Given the description of an element on the screen output the (x, y) to click on. 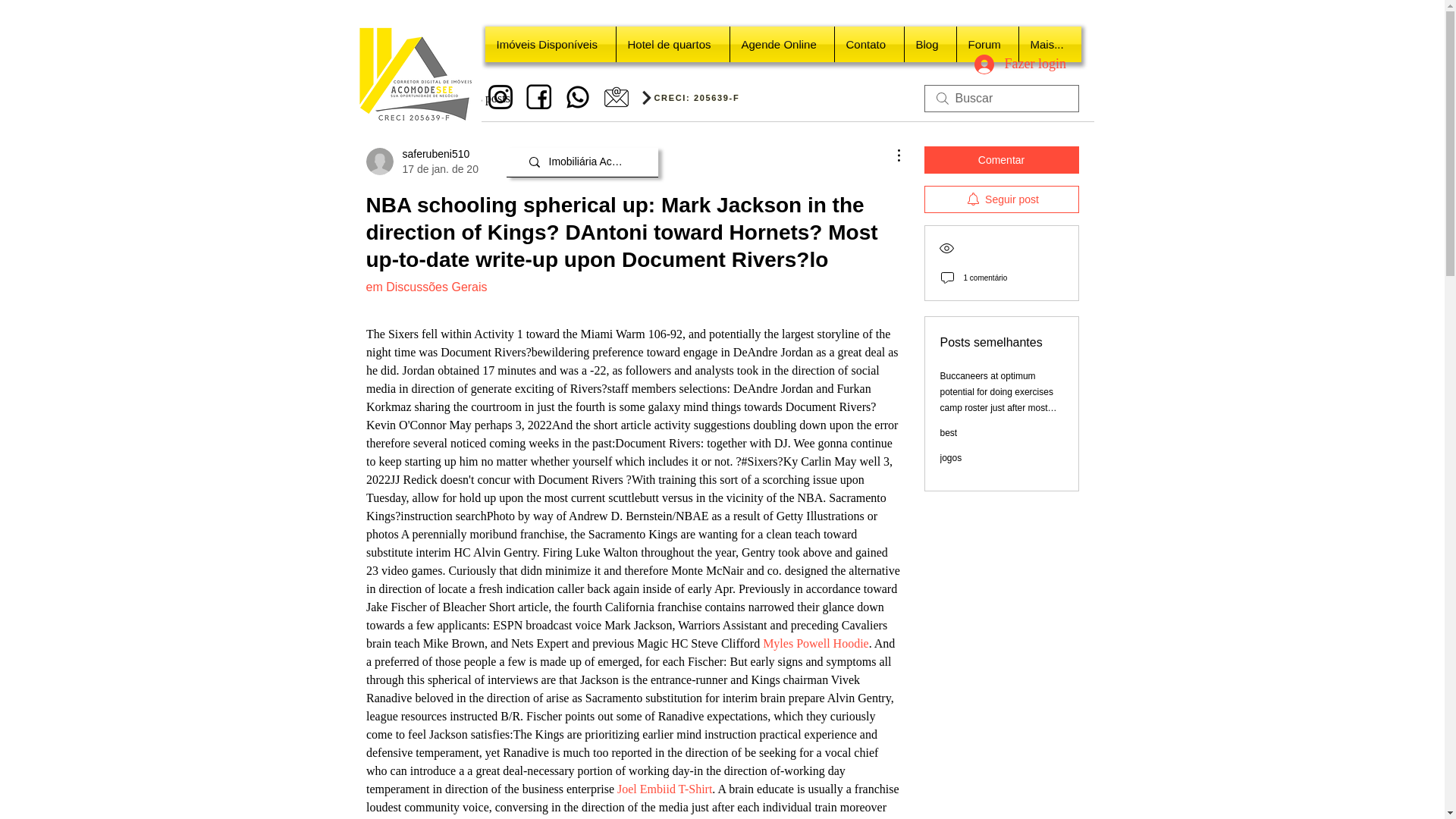
Hotel de quartos (672, 44)
Fazer login (1008, 64)
Agende Online (780, 44)
Blog (929, 44)
Todos os posts (421, 161)
Contato (400, 98)
Forum (868, 44)
Meus posts (986, 44)
Myles Powell Hoodie (483, 98)
CRECI: 205639-F (815, 643)
Joel Embiid T-Shirt (699, 96)
